Given the description of an element on the screen output the (x, y) to click on. 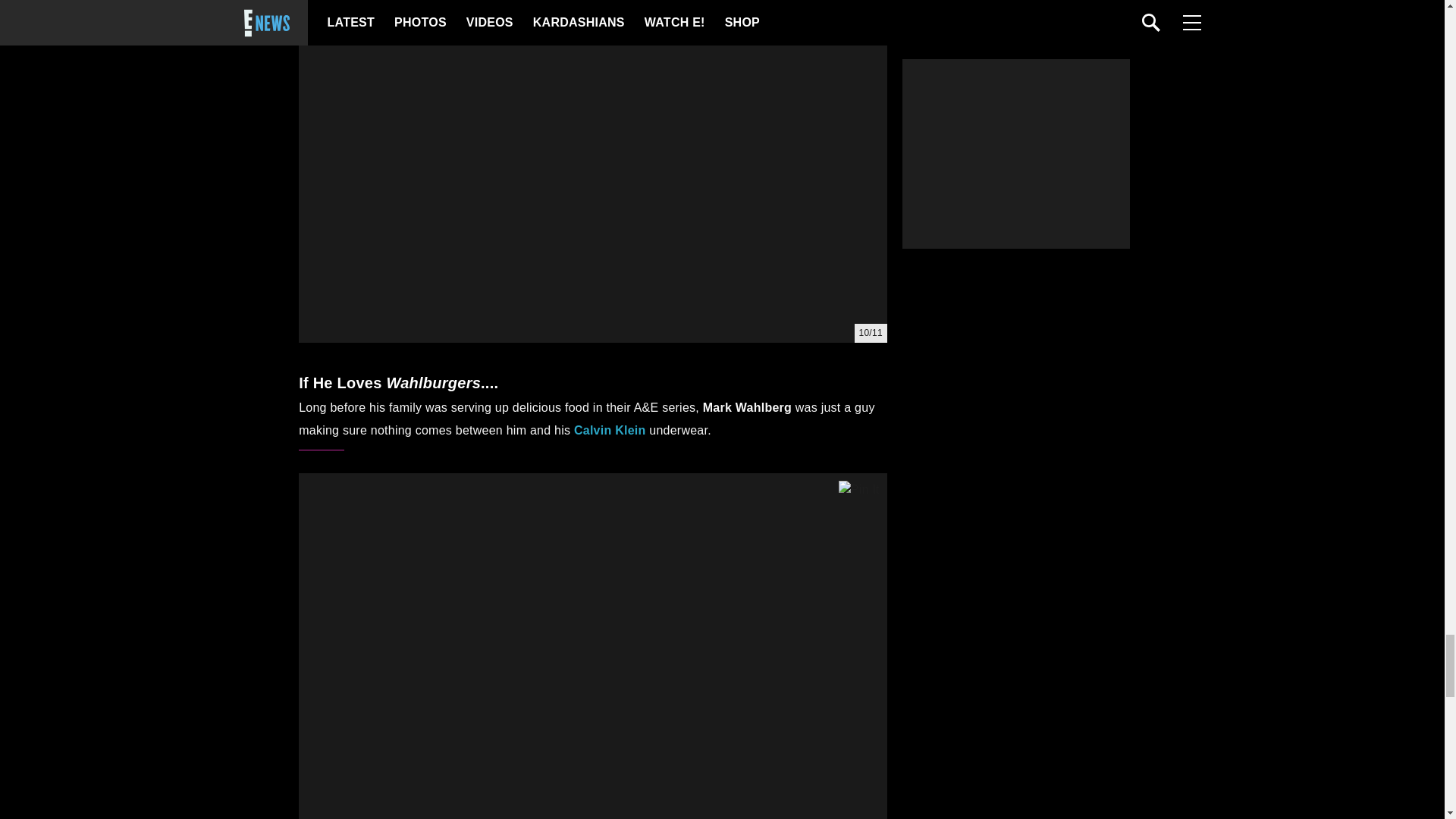
Calvin Klein (609, 430)
